Given the description of an element on the screen output the (x, y) to click on. 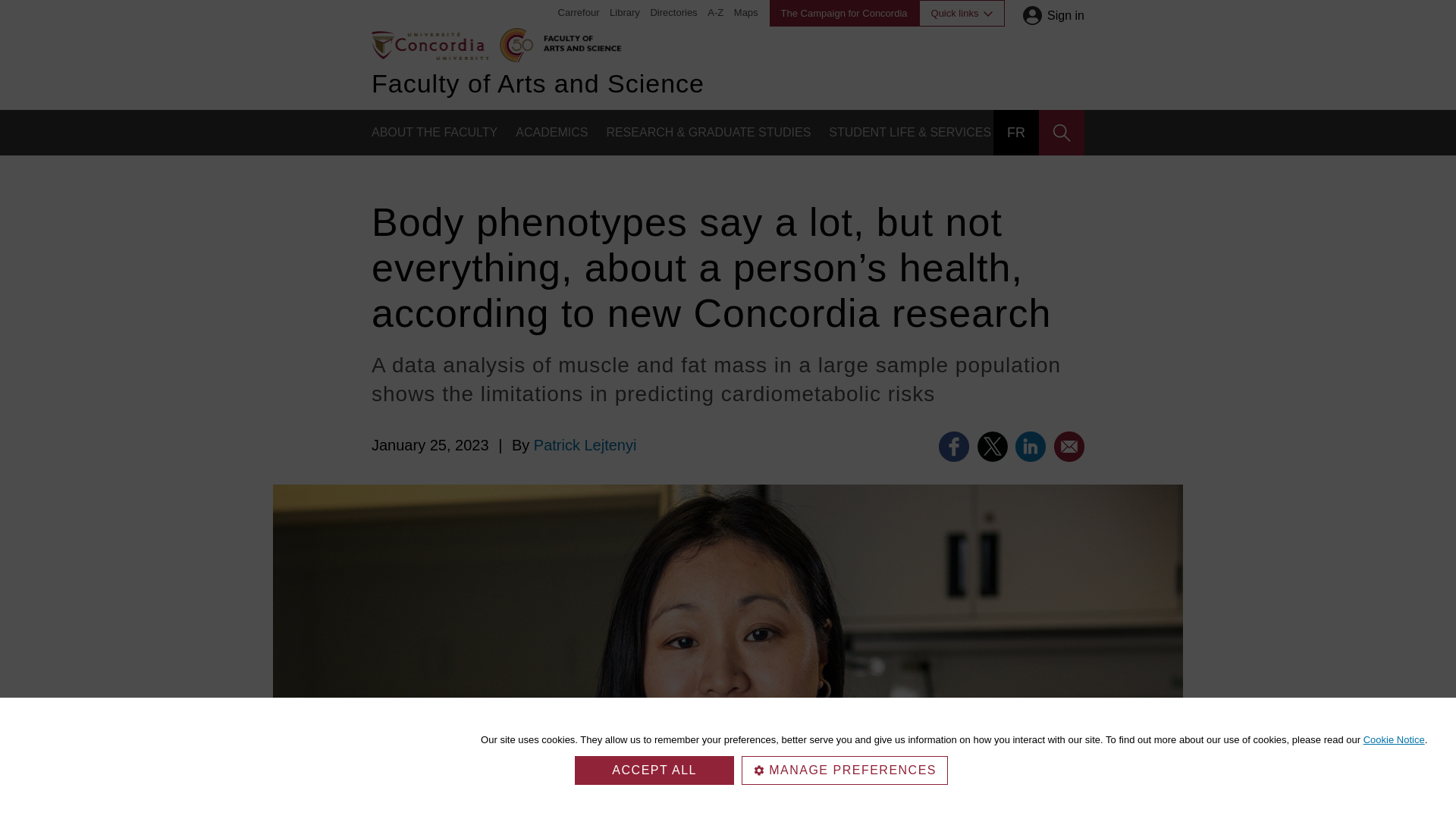
Cookie Notice (1393, 739)
Share on Facebook (954, 446)
Back to home (429, 44)
Library (625, 12)
Share on LinkedIn (1029, 446)
MANAGE PREFERENCES (844, 769)
Email this story (1069, 446)
ACCEPT ALL (654, 769)
Faculty of Arts and Science (579, 41)
Carrefour (578, 12)
Share on Twitter (991, 446)
